Given the description of an element on the screen output the (x, y) to click on. 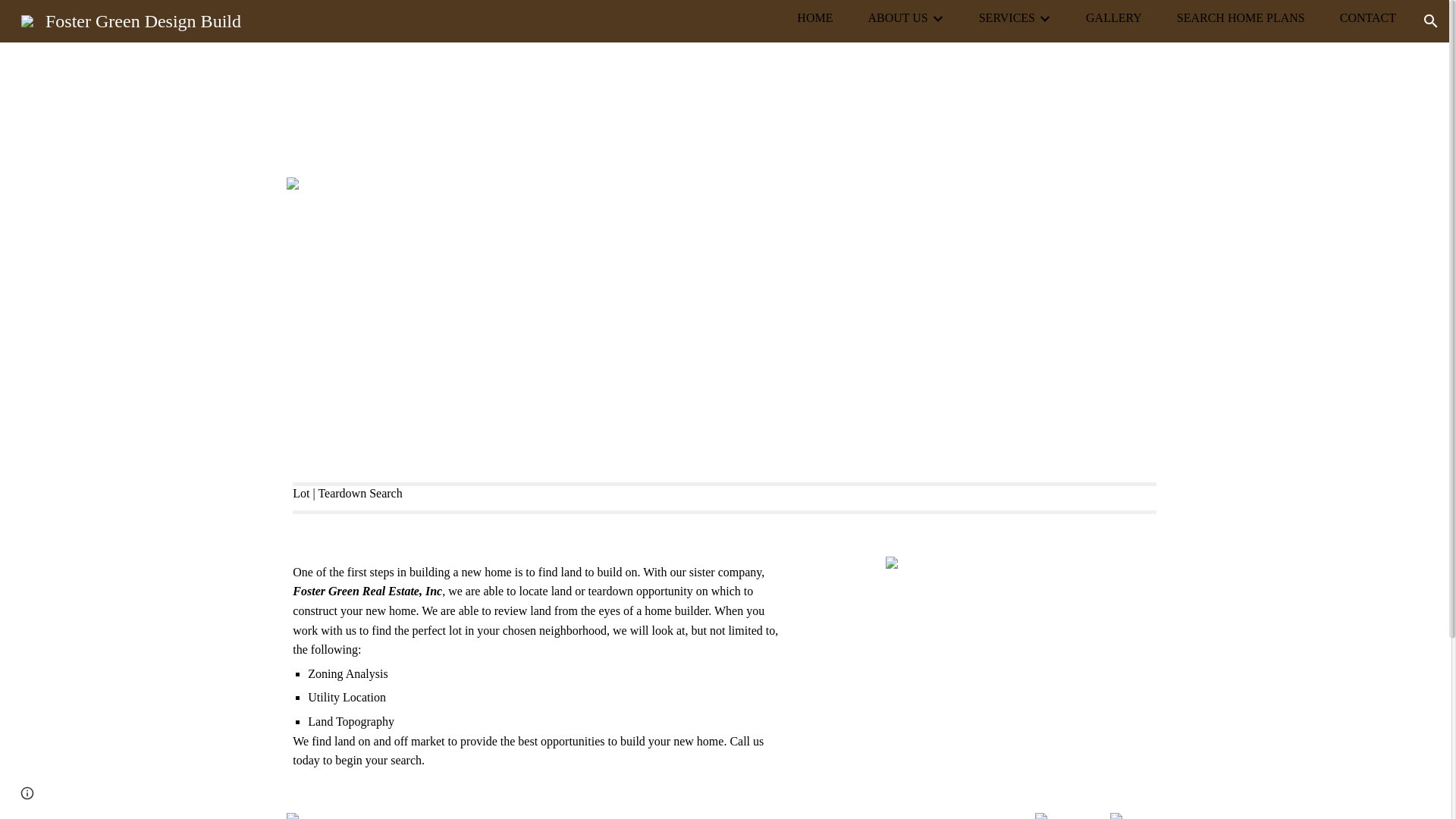
ABOUT US (897, 17)
SERVICES (1006, 17)
HOME (814, 17)
Foster Green Design Build (130, 19)
CONTACT (1367, 17)
Search Our Home Plans (724, 425)
GALLERY (1113, 17)
SEARCH HOME PLANS (1240, 17)
